Given the description of an element on the screen output the (x, y) to click on. 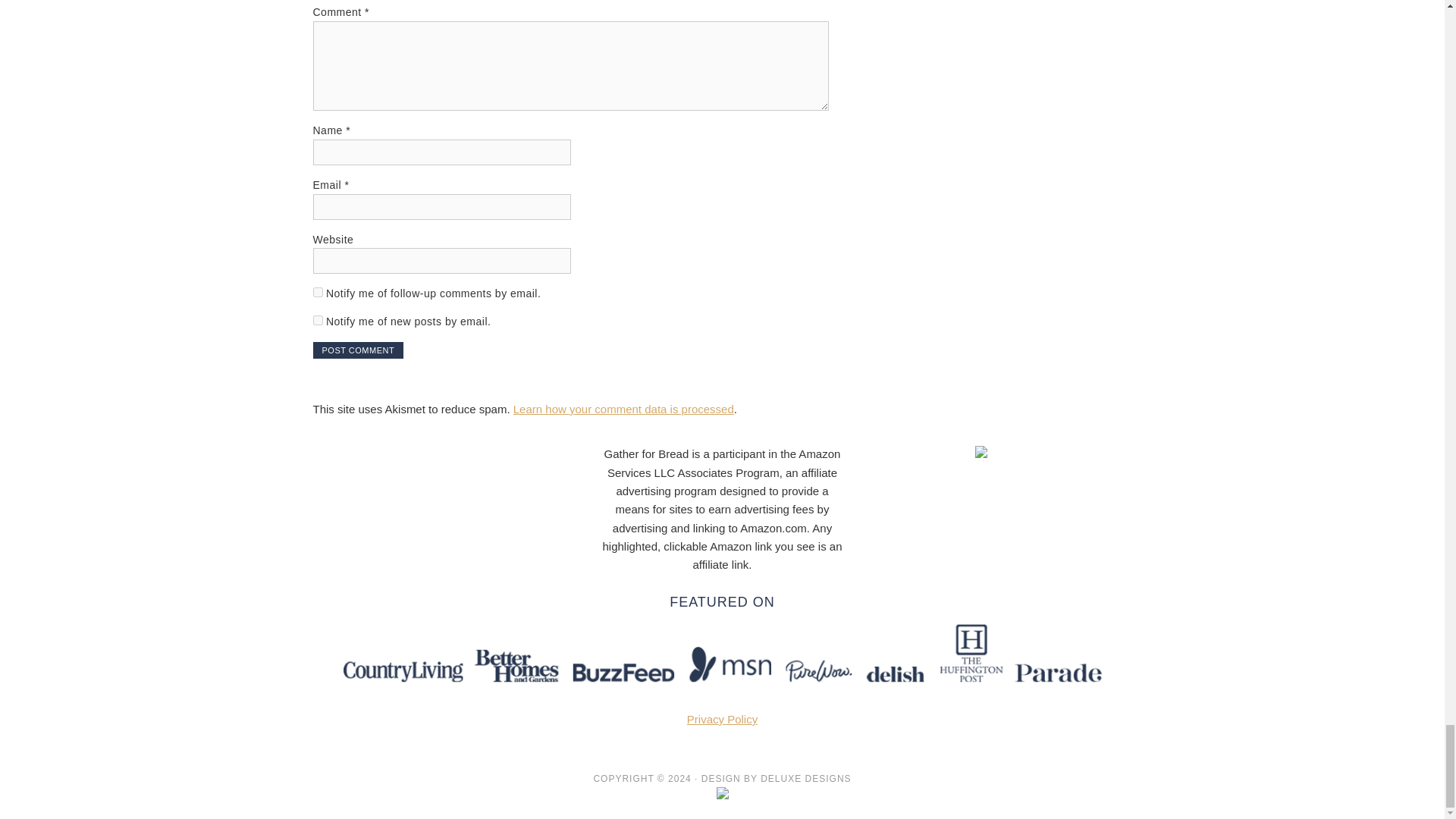
Post Comment (358, 350)
subscribe (317, 320)
subscribe (317, 292)
